Given the description of an element on the screen output the (x, y) to click on. 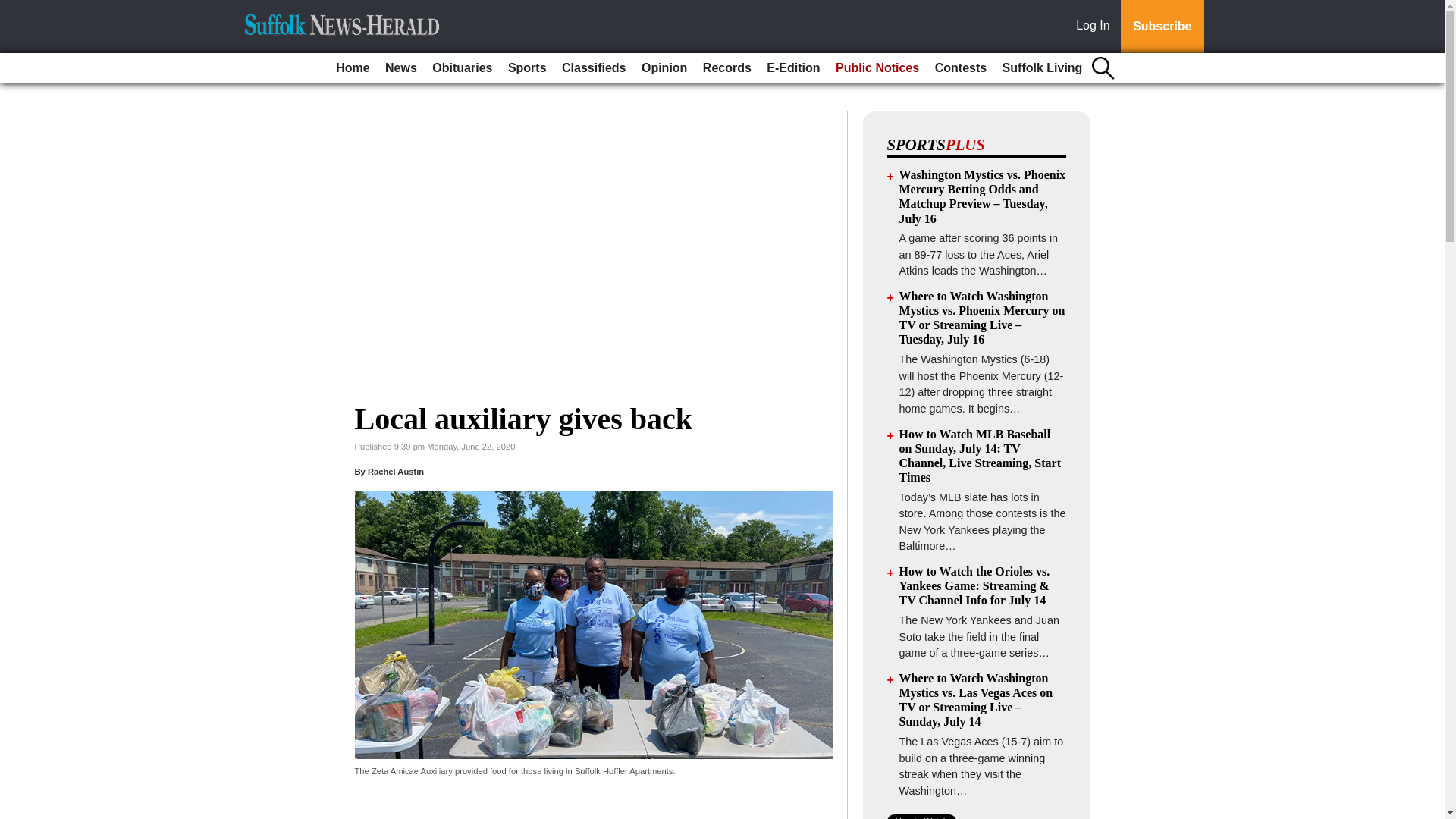
Suffolk Living (1042, 68)
Opinion (663, 68)
Contests (960, 68)
How to Watch (921, 816)
Classifieds (593, 68)
E-Edition (792, 68)
Obituaries (461, 68)
Log In (1095, 26)
Rachel Austin (395, 470)
News (400, 68)
Subscribe (1162, 26)
Records (727, 68)
Sports (527, 68)
Public Notices (876, 68)
